Given the description of an element on the screen output the (x, y) to click on. 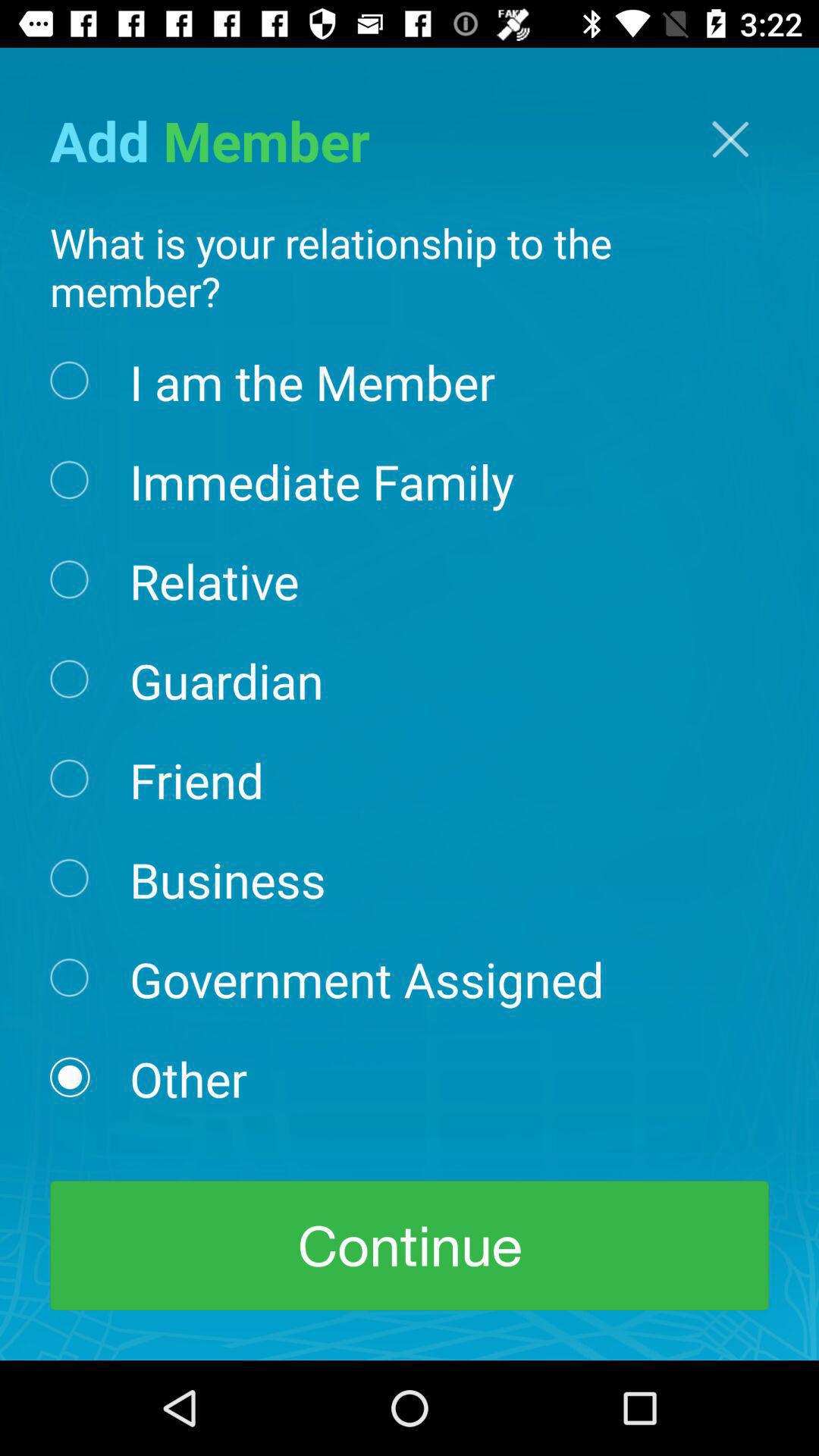
launch government assigned item (366, 977)
